Given the description of an element on the screen output the (x, y) to click on. 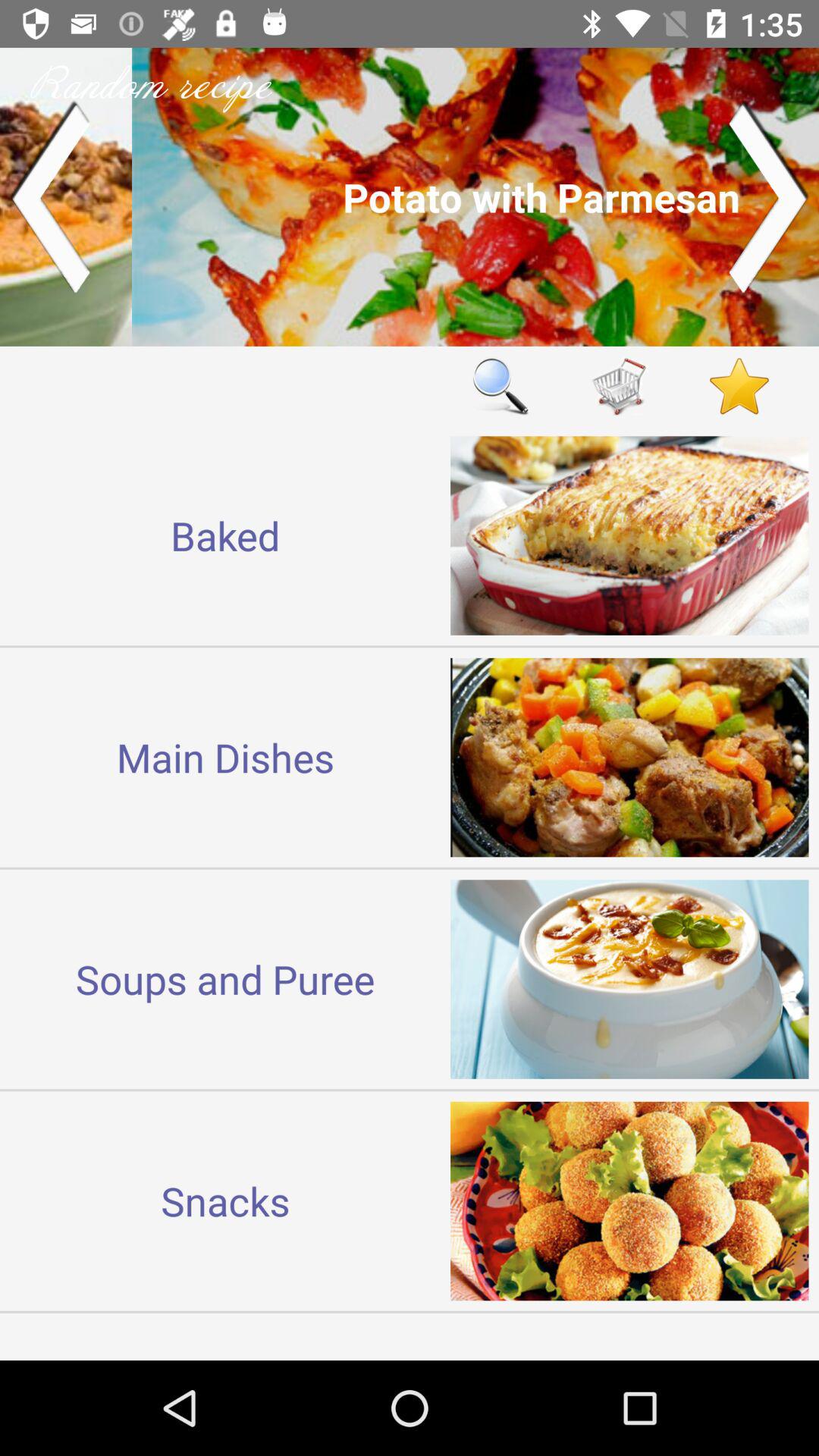
swipe until the snacks (225, 1200)
